Given the description of an element on the screen output the (x, y) to click on. 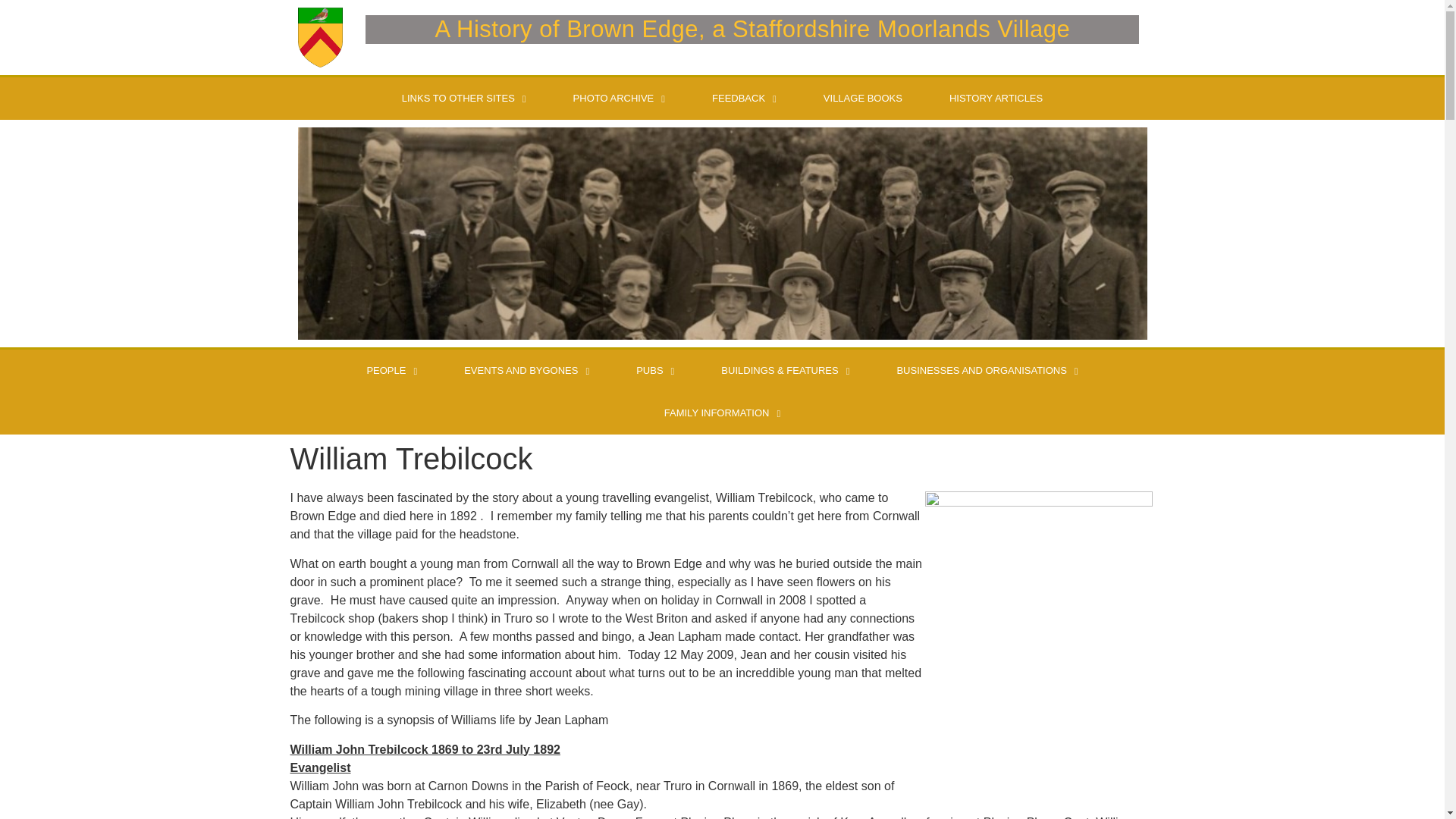
FEEDBACK (743, 97)
PHOTO ARCHIVE (619, 97)
LINKS TO OTHER SITES (464, 97)
VILLAGE BOOKS (862, 97)
HISTORY ARTICLES (995, 97)
